Given the description of an element on the screen output the (x, y) to click on. 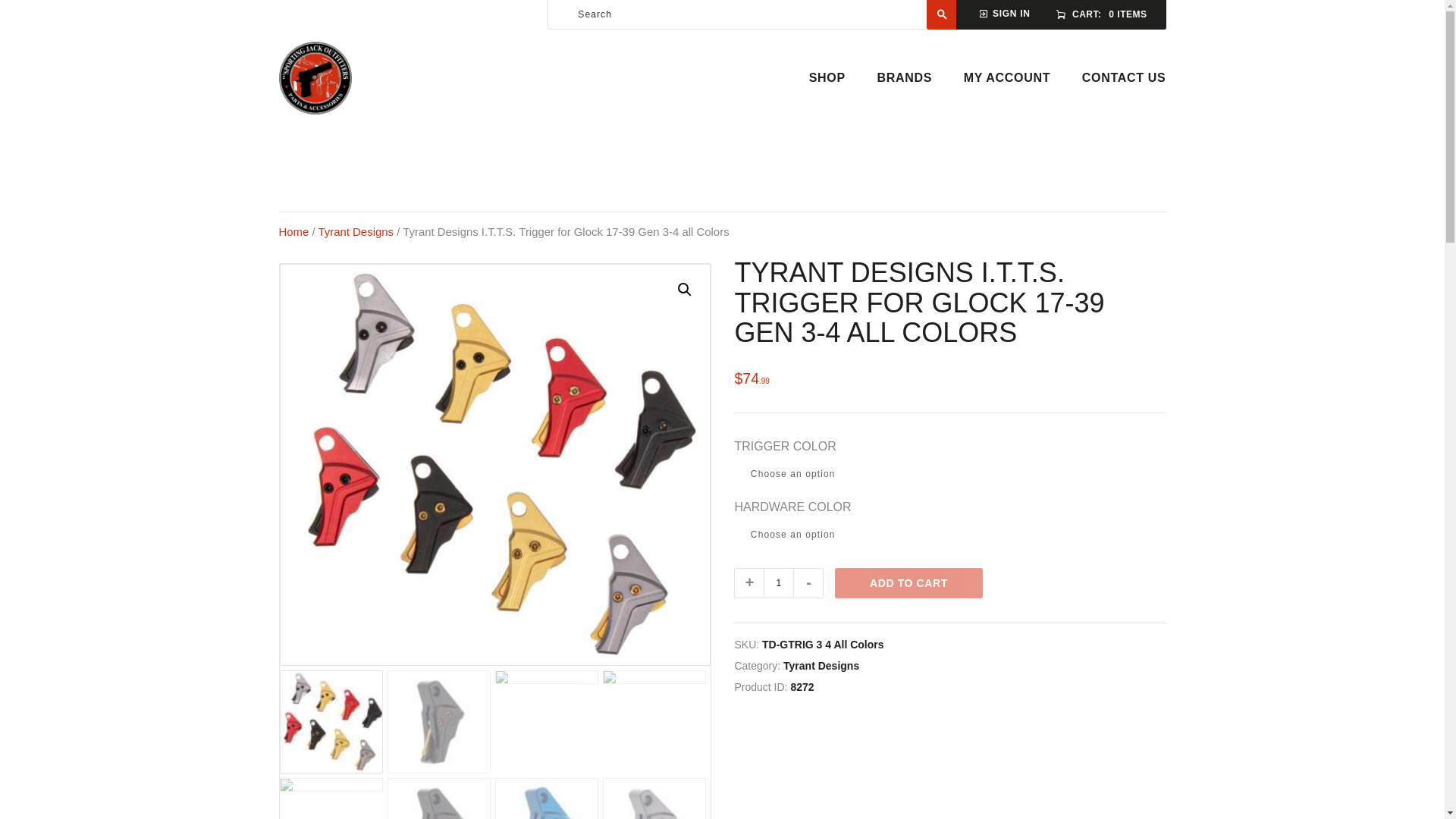
SHOP (827, 77)
BRANDS (903, 77)
CONTACT US (1123, 77)
MY ACCOUNT (1007, 77)
1 (777, 583)
SIGN IN (1004, 12)
